Given the description of an element on the screen output the (x, y) to click on. 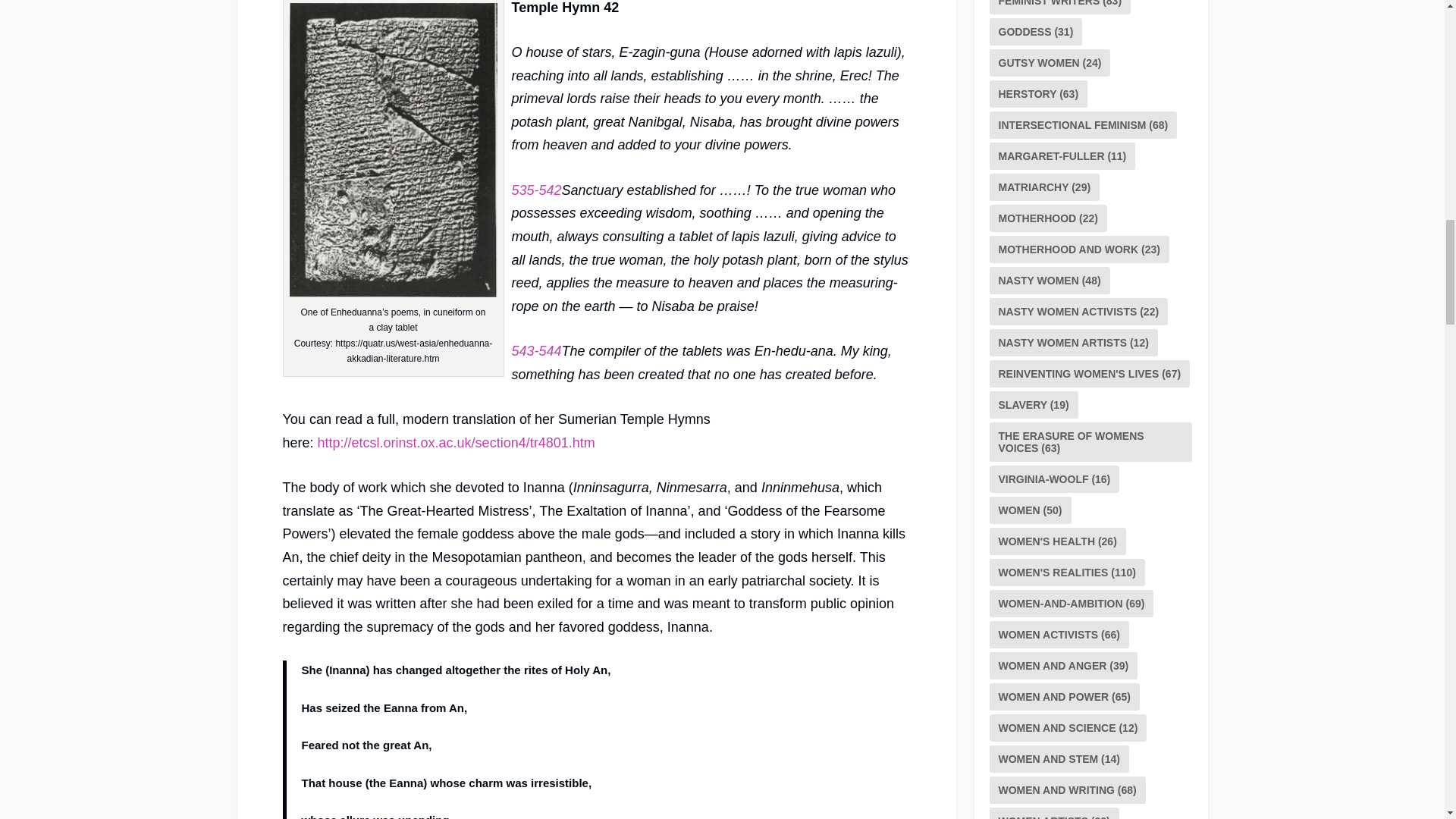
543-544 (535, 350)
535-542 (535, 190)
